Given the description of an element on the screen output the (x, y) to click on. 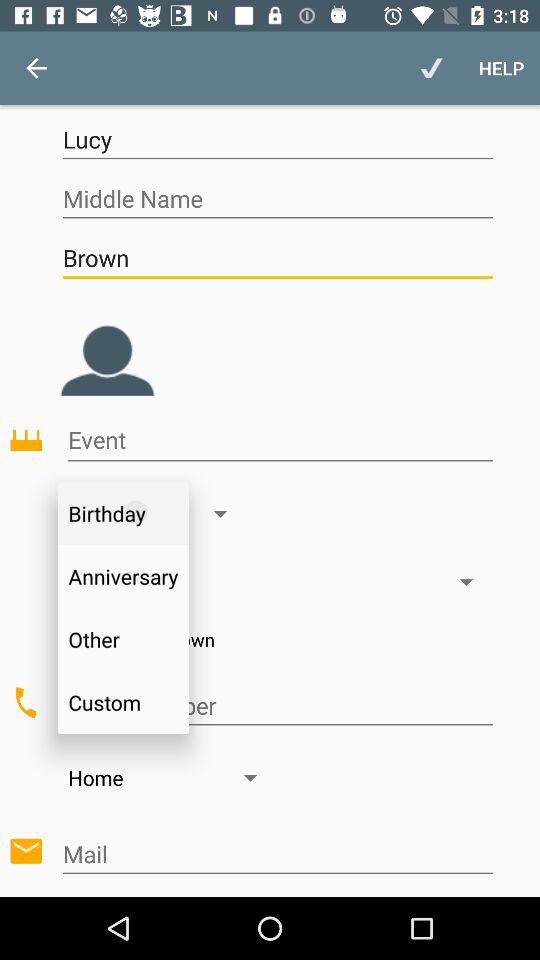
open the help (501, 67)
